Given the description of an element on the screen output the (x, y) to click on. 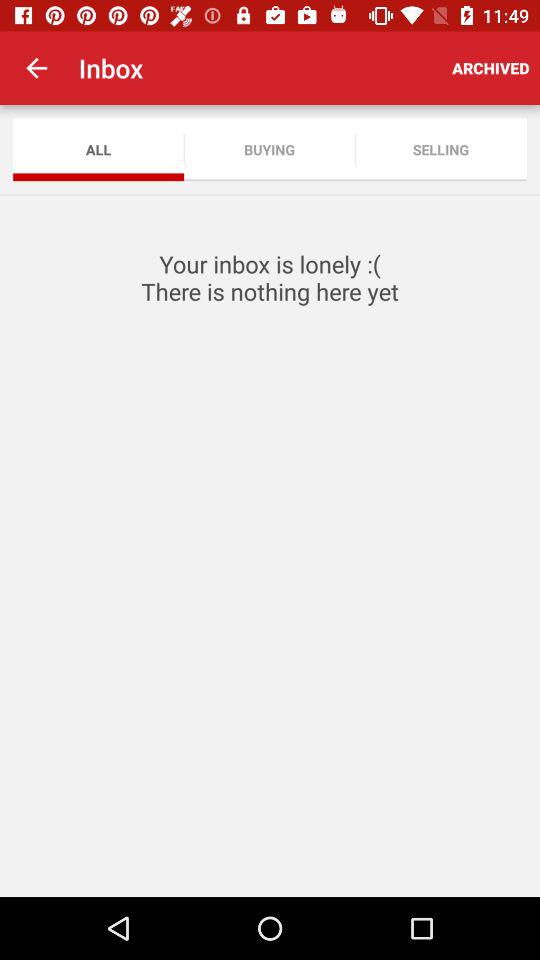
turn on the app to the right of the inbox icon (490, 67)
